Given the description of an element on the screen output the (x, y) to click on. 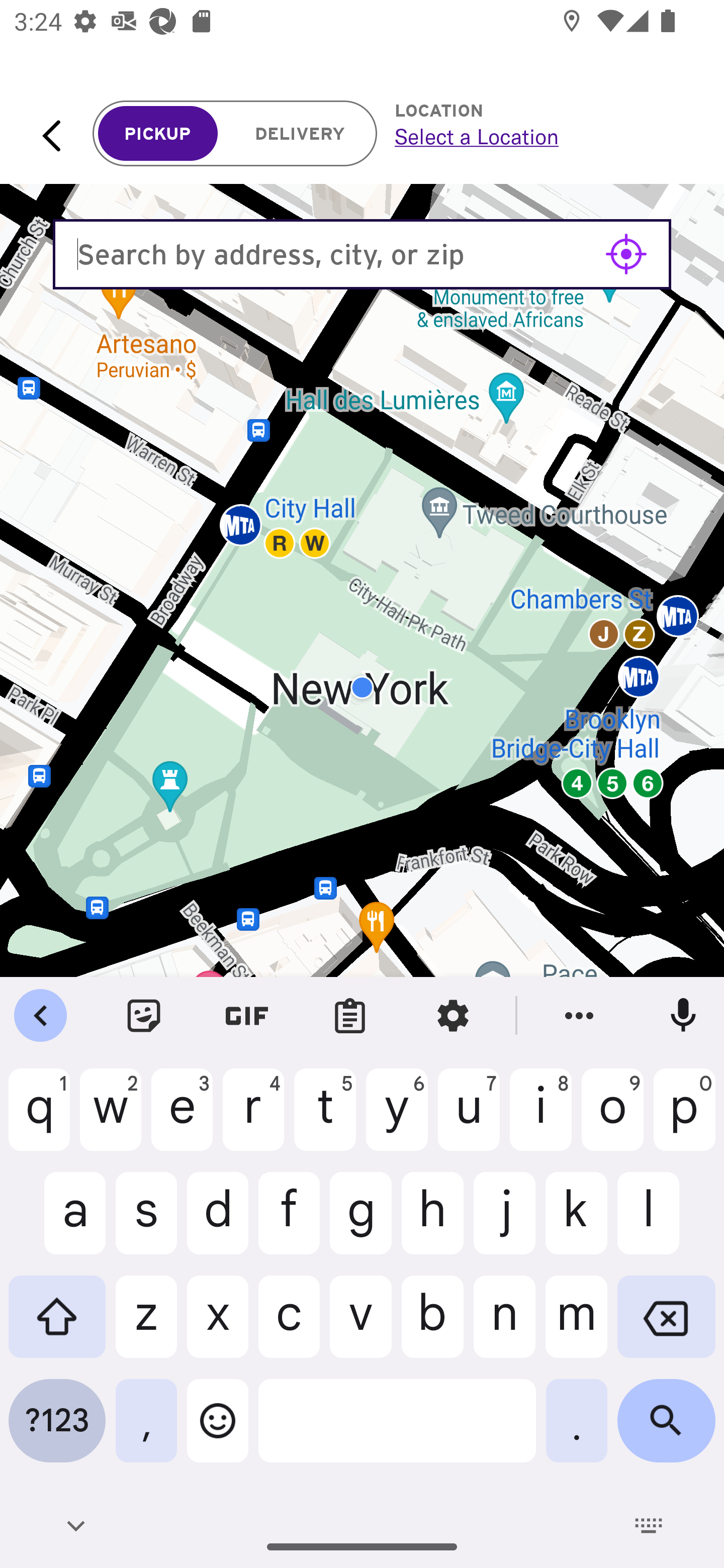
PICKUP (157, 133)
DELIVERY (299, 133)
Select a Location (536, 136)
Search by address, city, or zip (361, 254)
